Given the description of an element on the screen output the (x, y) to click on. 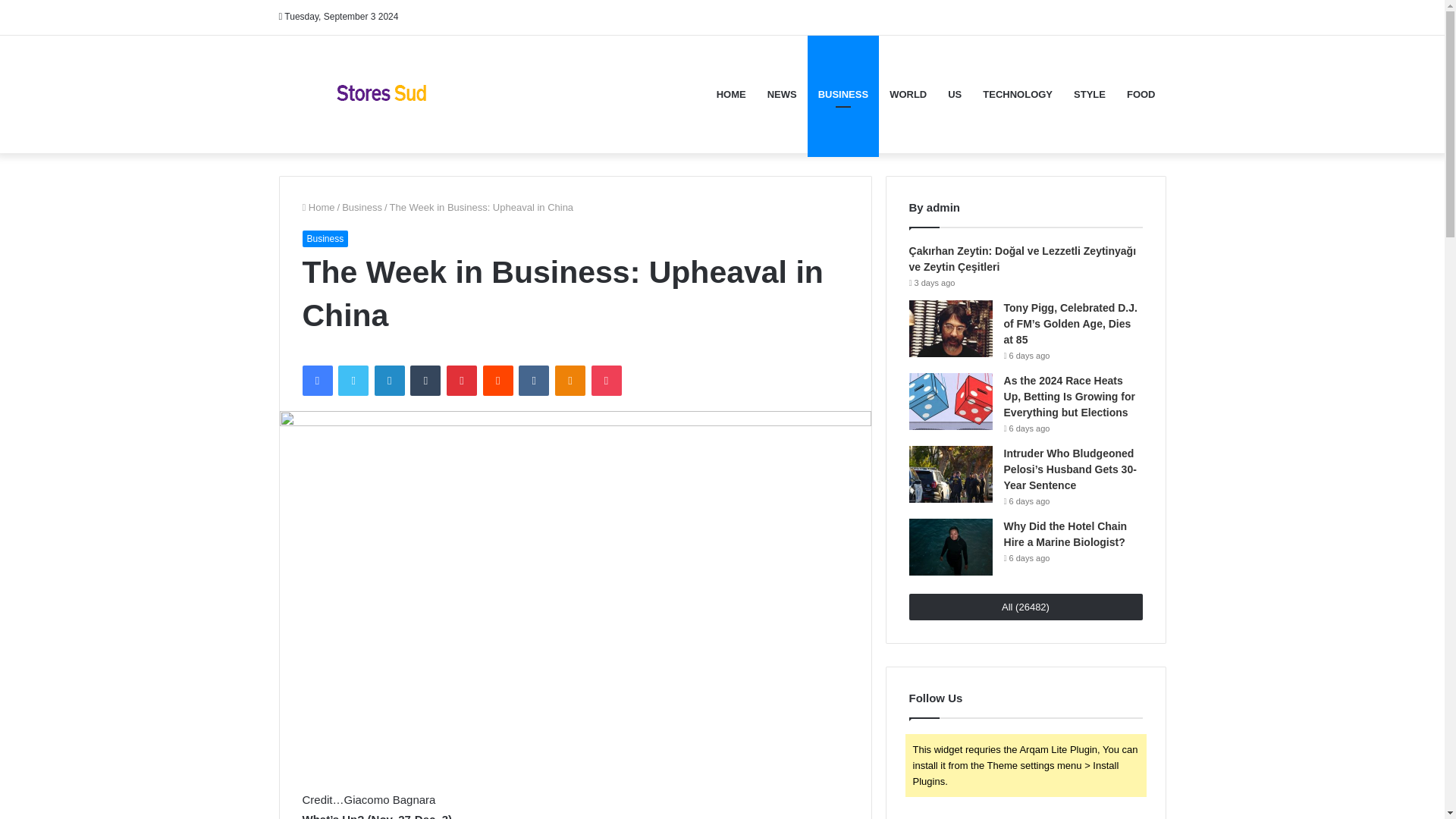
Facebook (316, 380)
Home (317, 206)
Twitter (352, 380)
Reddit (498, 380)
Business (361, 206)
Tumblr (425, 380)
Pocket (606, 380)
VKontakte (533, 380)
Pinterest (461, 380)
Pocket (606, 380)
